Given the description of an element on the screen output the (x, y) to click on. 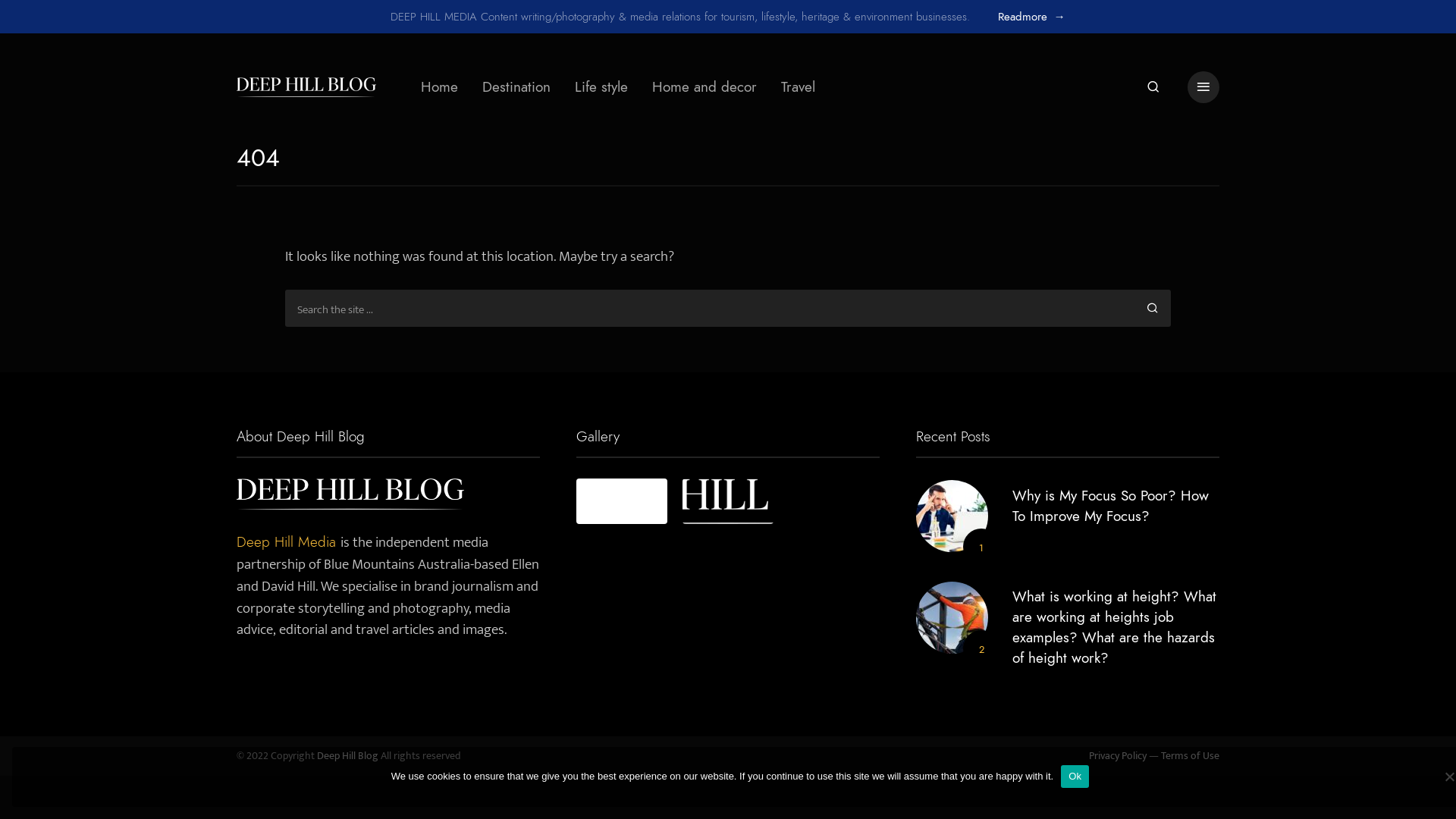
Deep Hill Blog Element type: text (347, 755)
1 Element type: text (952, 515)
Destination Element type: text (516, 87)
Travel Element type: text (797, 87)
Privacy Policy Element type: text (1117, 755)
Life style Element type: text (601, 87)
Home Element type: text (439, 87)
Why is My Focus So Poor? How To Improve My Focus? Element type: text (1110, 505)
2 Element type: text (952, 617)
Home and decor Element type: text (704, 87)
Ok Element type: text (1074, 775)
Terms of Use Element type: text (1190, 755)
Deep Hill Media Element type: text (288, 541)
